Given the description of an element on the screen output the (x, y) to click on. 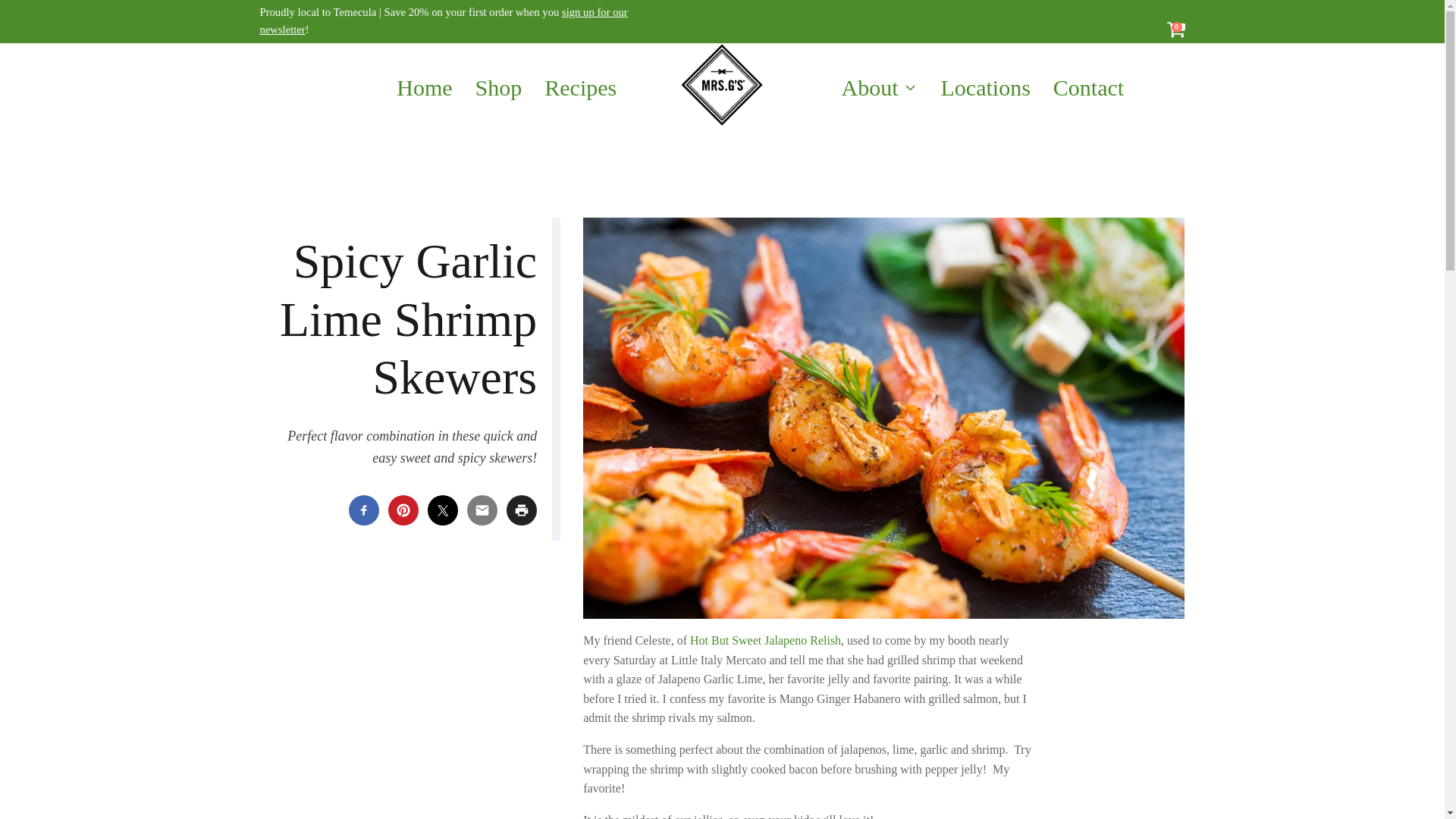
Hot But Sweet Jalapeno Relish (765, 640)
Shop (498, 87)
Recipes (580, 87)
About (880, 87)
Home (424, 87)
Contact (1088, 87)
Locations (985, 87)
